Given the description of an element on the screen output the (x, y) to click on. 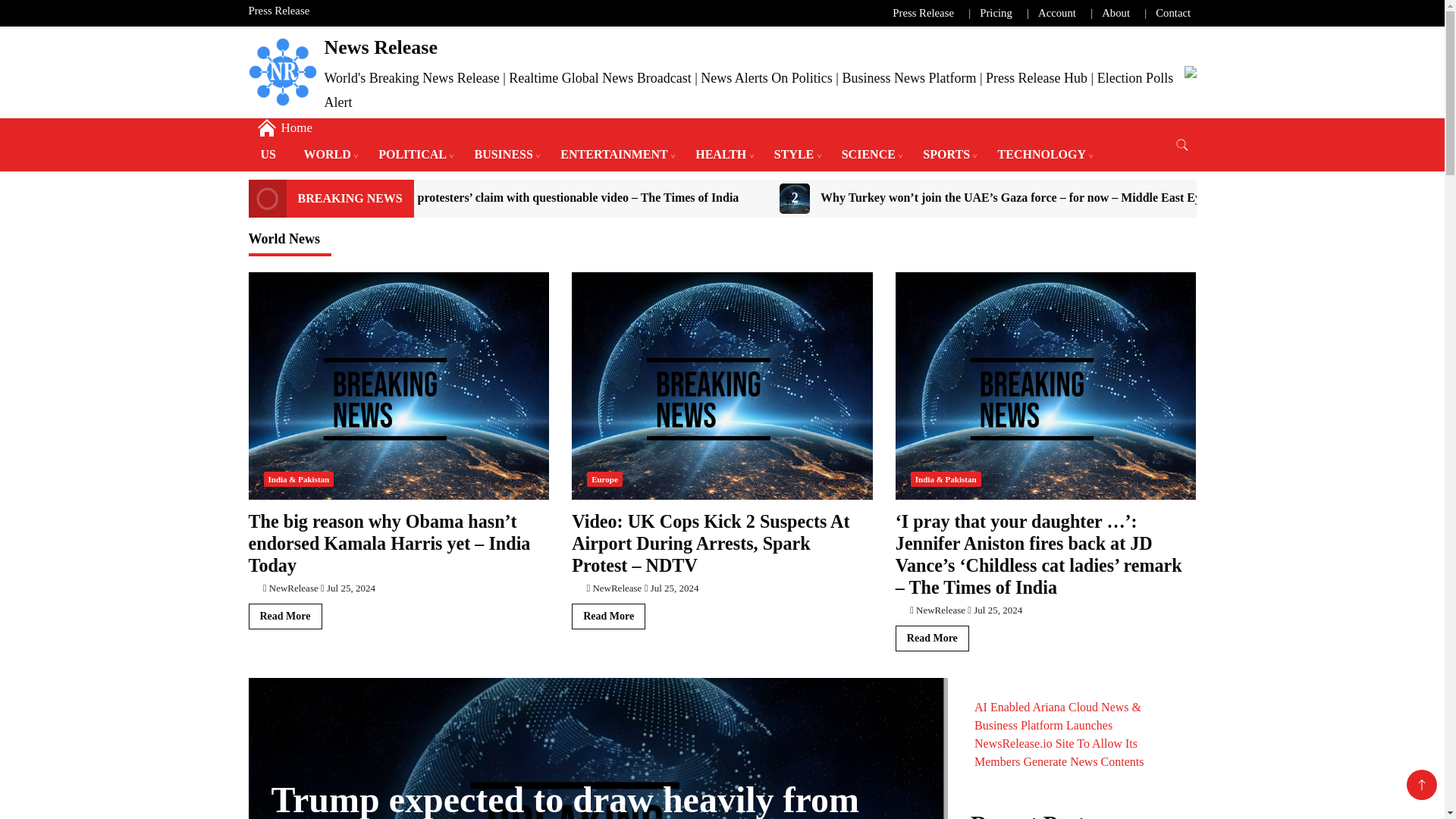
US (268, 154)
Press Release (279, 10)
Contact (1173, 12)
WORLD (326, 154)
BUSINESS (502, 154)
About (1115, 12)
Press Release (922, 12)
News Release (381, 47)
View full post (1059, 734)
Account (1056, 12)
ENTERTAINMENT (613, 154)
Pricing (995, 12)
POLITICAL (412, 154)
